Given the description of an element on the screen output the (x, y) to click on. 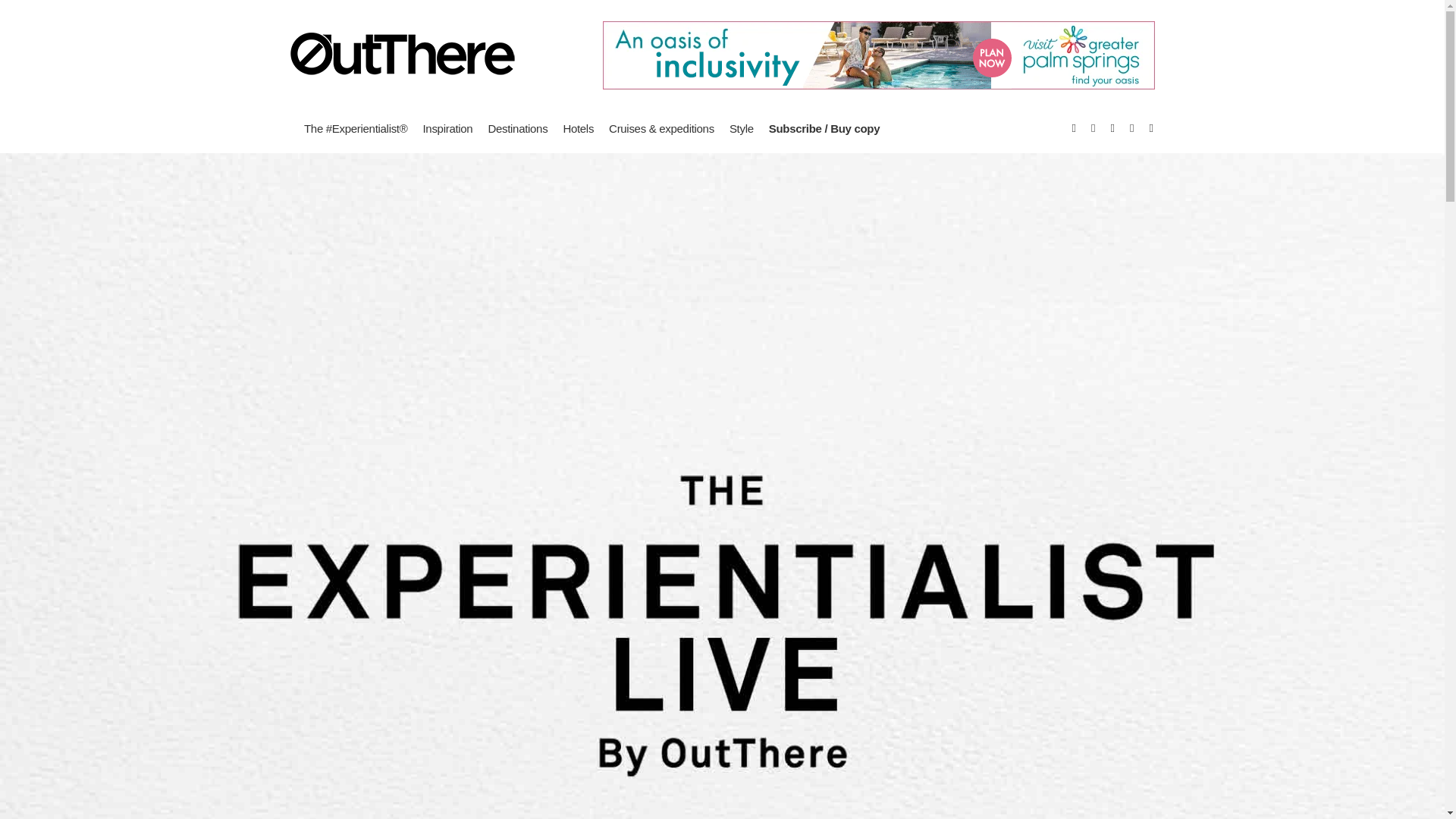
Destinations (517, 127)
Style (741, 127)
Inspiration (447, 127)
Hotels (577, 127)
